Given the description of an element on the screen output the (x, y) to click on. 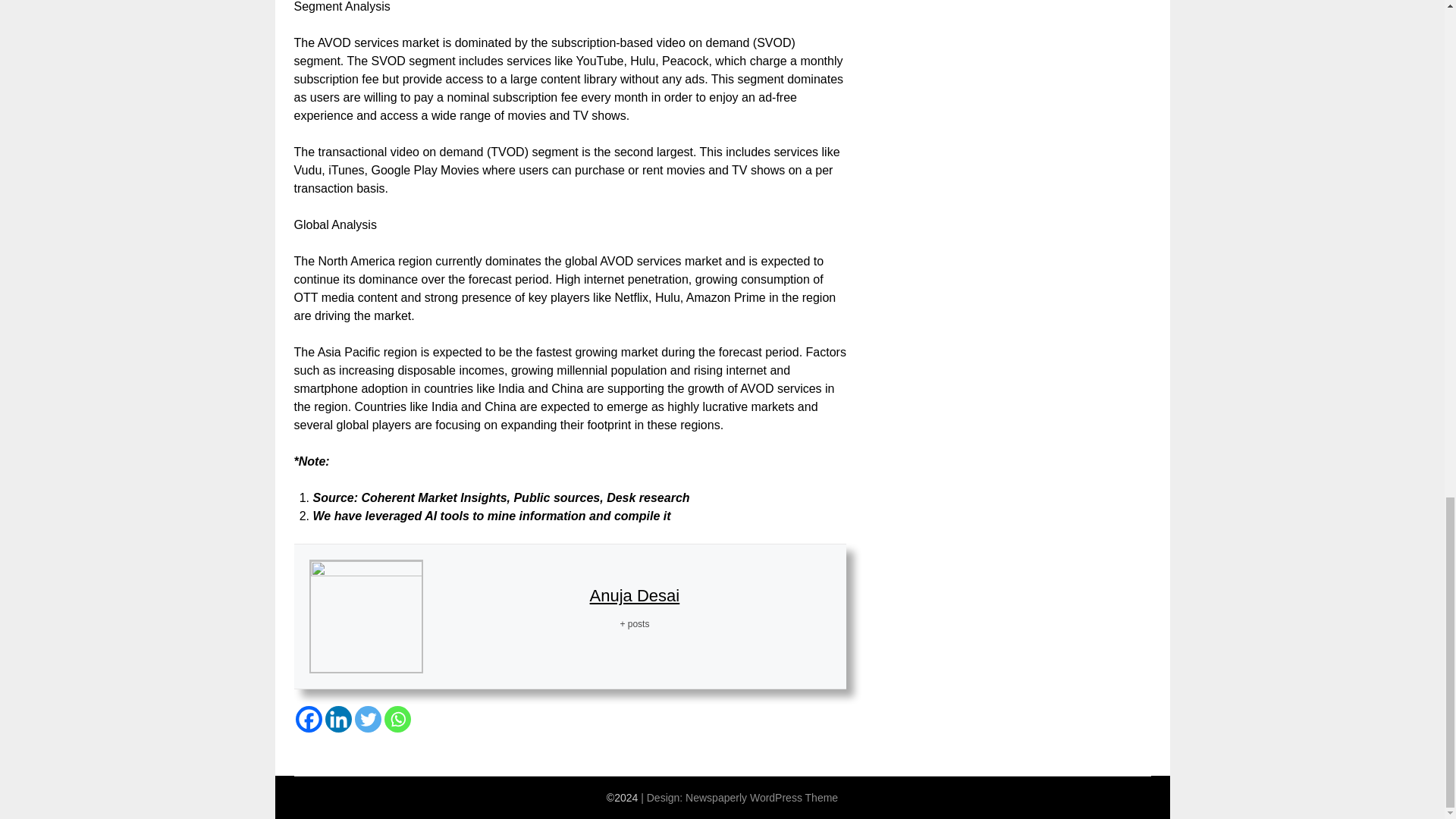
Anuja Desai (634, 595)
Whatsapp (397, 718)
Newspaperly WordPress Theme (761, 797)
Linkedin (337, 718)
Twitter (368, 718)
Facebook (308, 718)
